Given the description of an element on the screen output the (x, y) to click on. 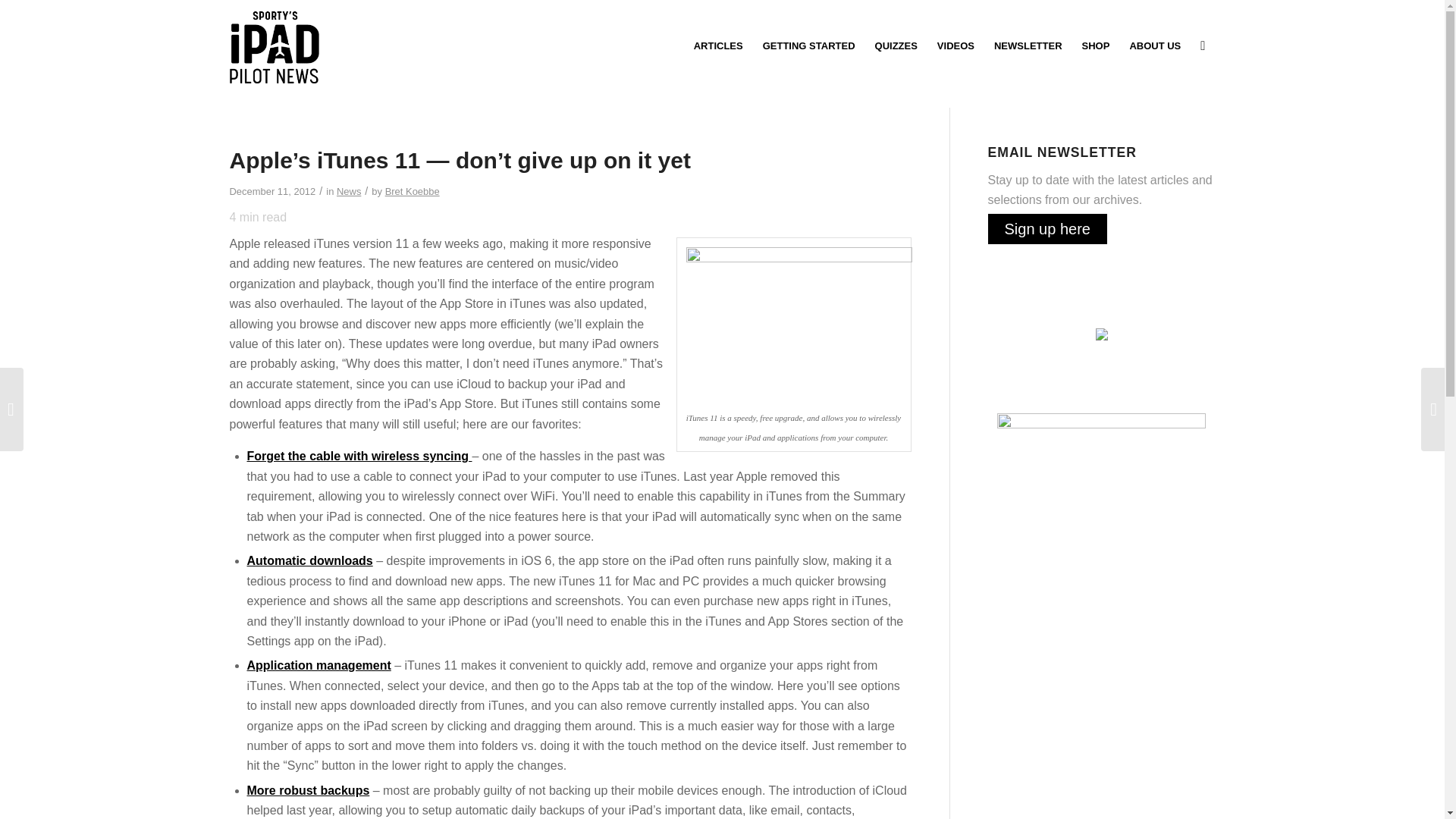
GETTING STARTED (808, 45)
News (348, 191)
logo (273, 45)
NEWSLETTER (1027, 45)
Posts by Bret Koebbe (412, 191)
Bret Koebbe (412, 191)
Sign up here (1046, 228)
